Given the description of an element on the screen output the (x, y) to click on. 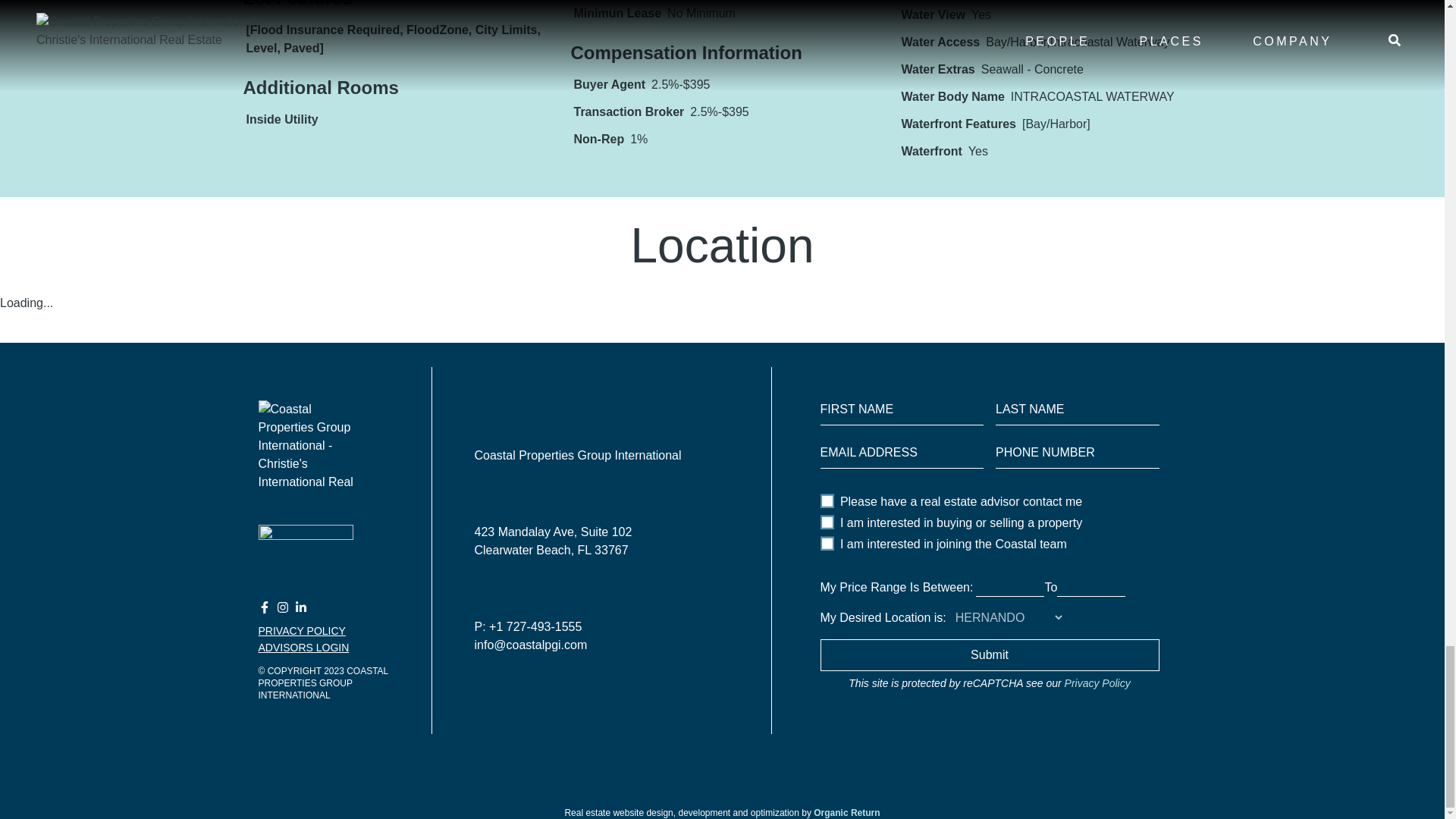
on (827, 522)
on (827, 500)
on (827, 543)
